Given the description of an element on the screen output the (x, y) to click on. 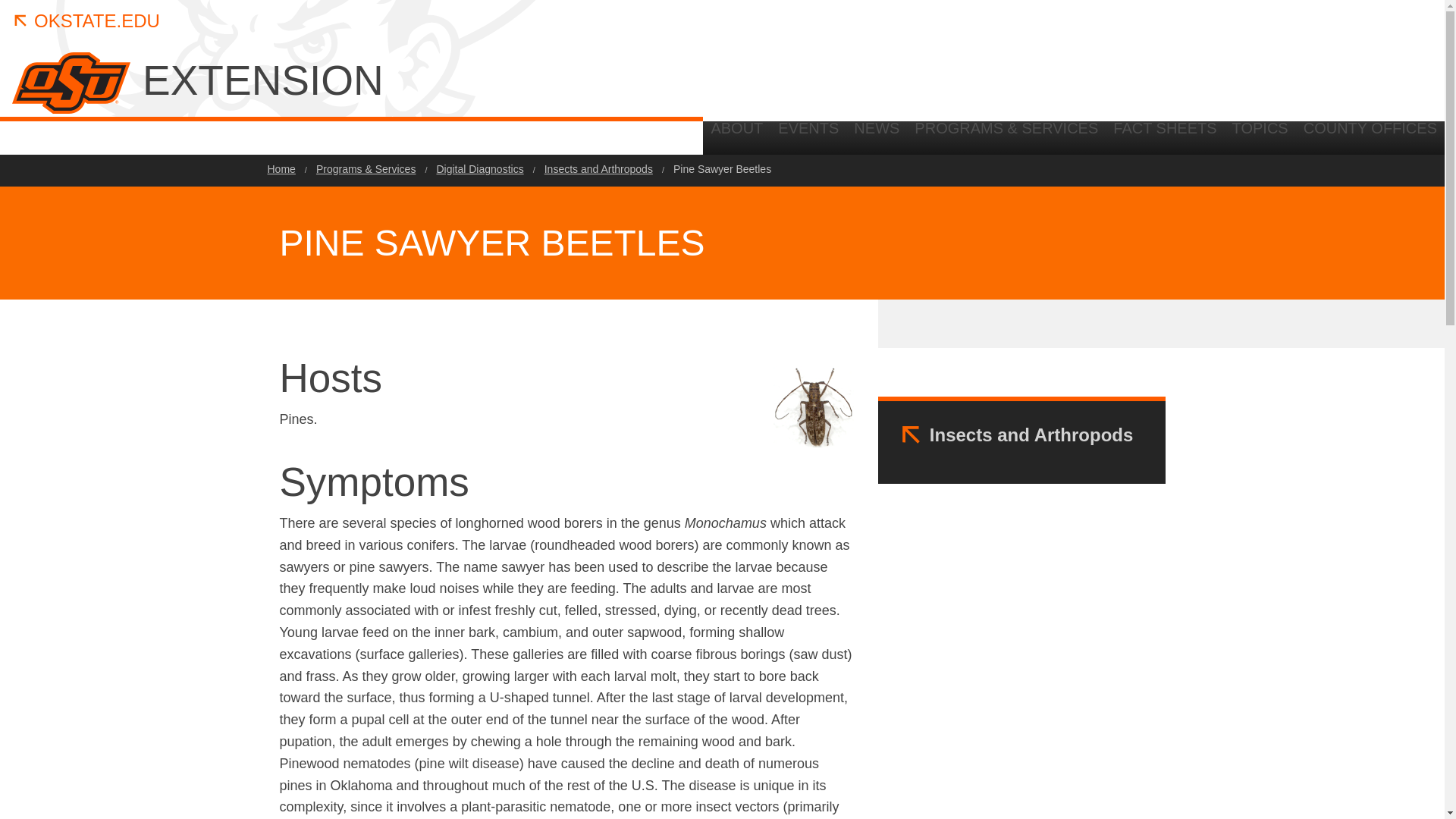
Home (280, 168)
Insects and Arthropods (1031, 435)
FACT SHEETS (1164, 133)
Search (1327, 261)
OKSTATE.EDU (85, 21)
NEWS (876, 133)
EXTENSION (399, 80)
Pine Sawyer Beetles (721, 168)
Digital Diagnostics (478, 168)
Ferguson College of Ag (1303, 137)
TOPICS (1259, 133)
ABOUT (736, 133)
Ag Research (1400, 137)
EVENTS (807, 133)
Pine Sawyer beetle.  (813, 406)
